Given the description of an element on the screen output the (x, y) to click on. 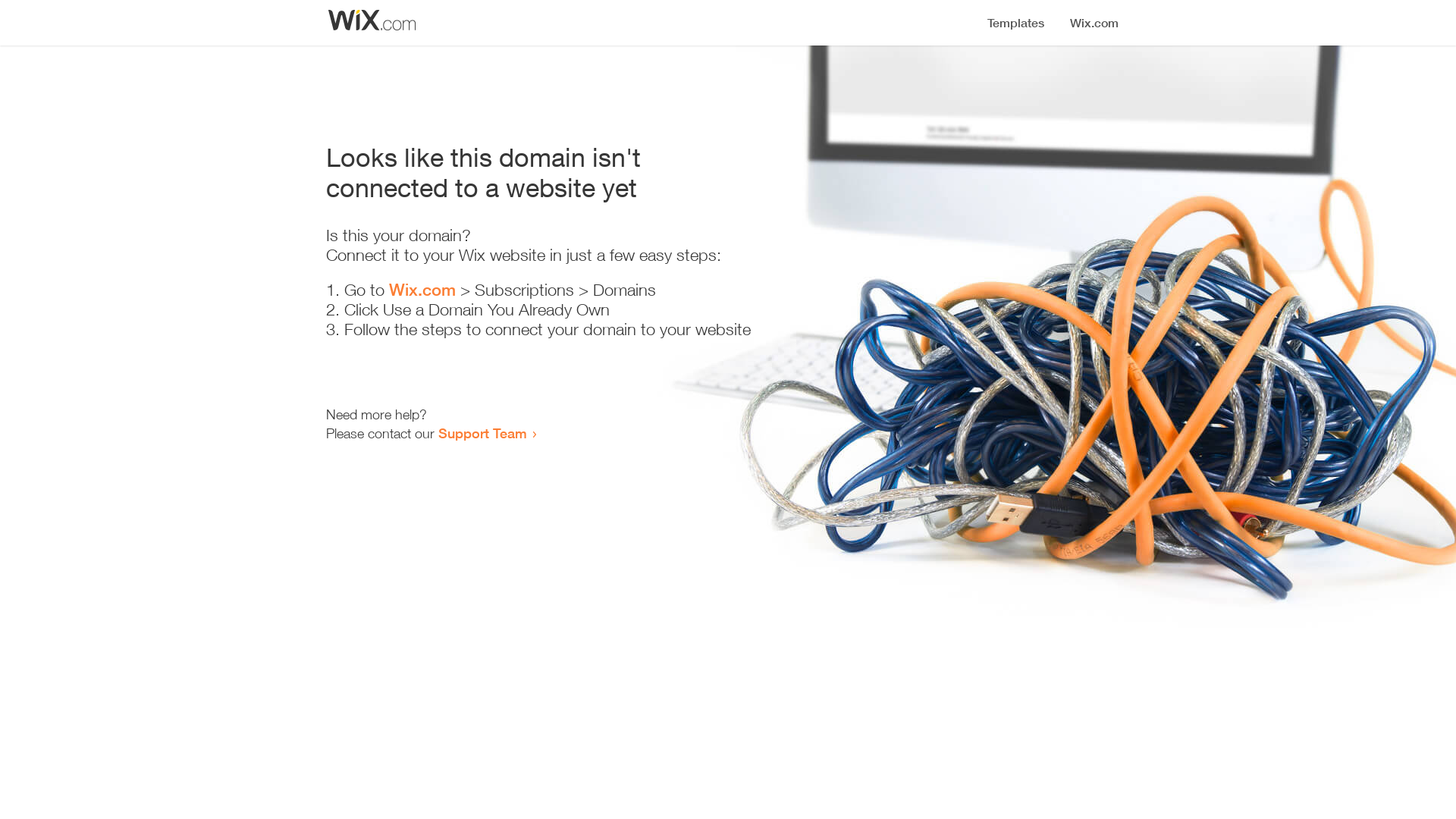
Support Team Element type: text (482, 432)
Wix.com Element type: text (422, 289)
